Given the description of an element on the screen output the (x, y) to click on. 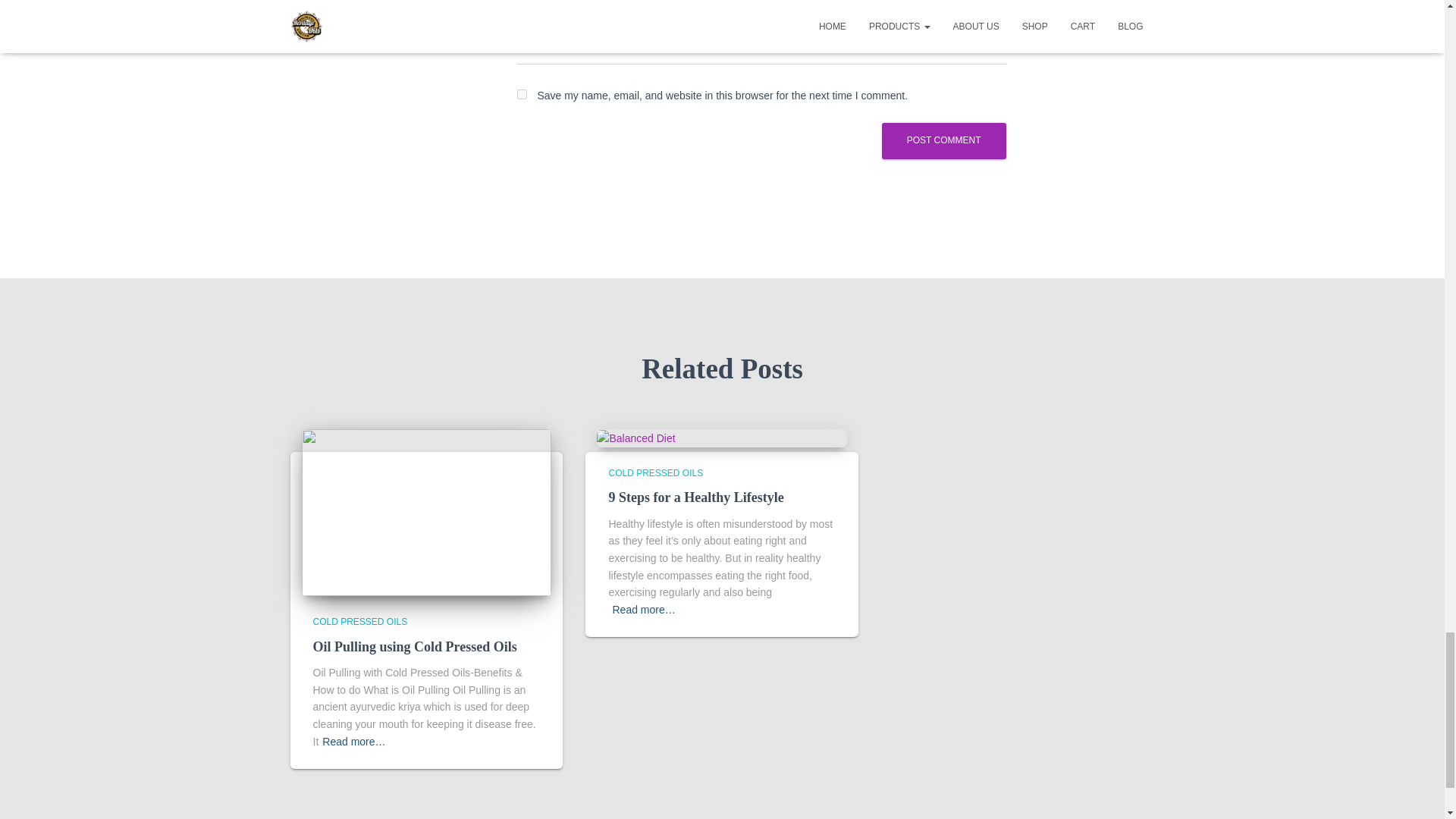
Oil Pulling using Cold Pressed Oils (426, 511)
yes (521, 94)
View all posts in Cold Pressed Oils (360, 621)
COLD PRESSED OILS (360, 621)
Post Comment (944, 140)
Oil Pulling using Cold Pressed Oils (414, 646)
9 Steps for a Healthy Lifestyle (635, 437)
Oil Pulling using Cold Pressed Oils (414, 646)
9 Steps for a Healthy Lifestyle (695, 497)
COLD PRESSED OILS (655, 472)
Post Comment (944, 140)
